Given the description of an element on the screen output the (x, y) to click on. 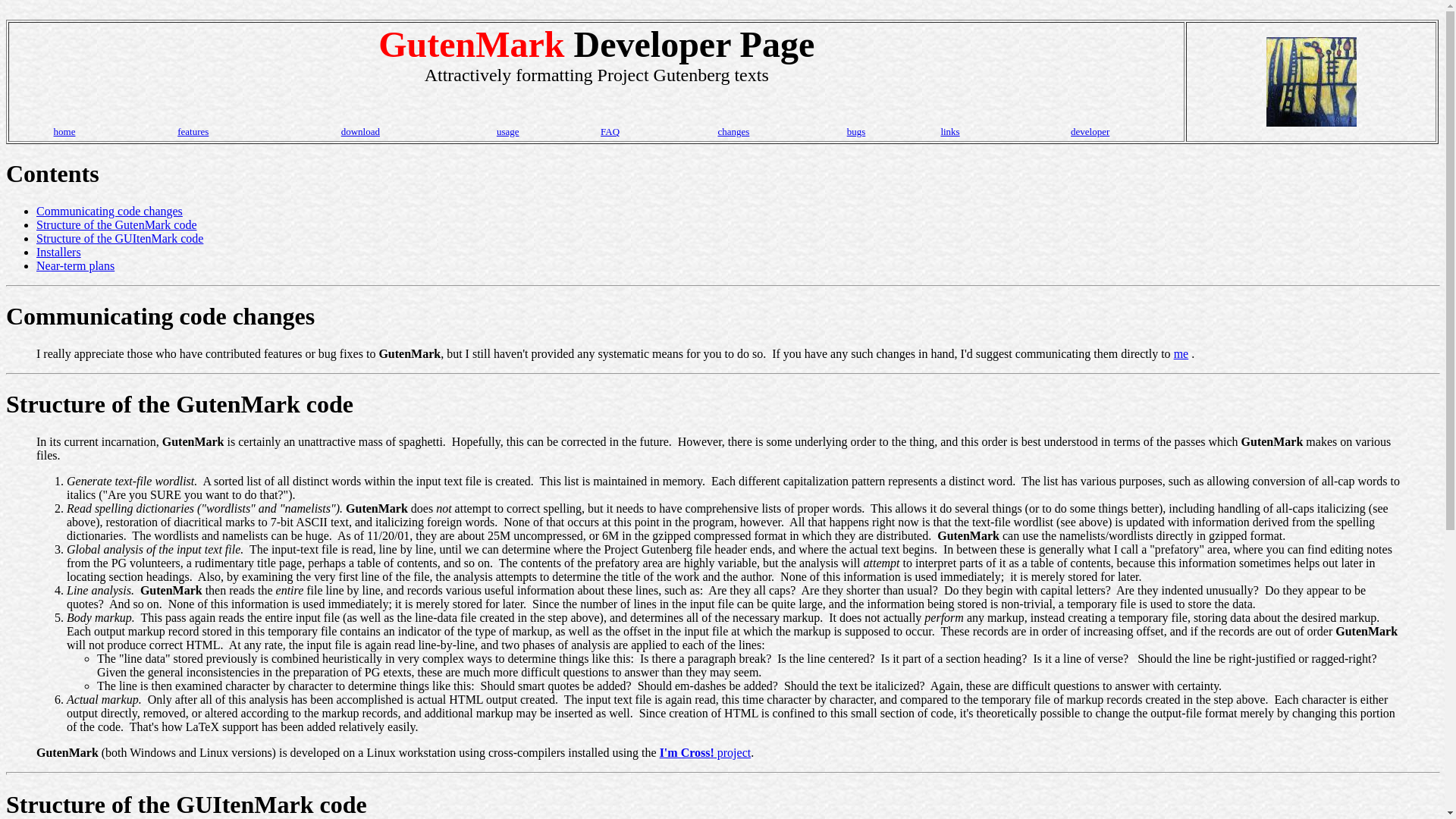
Near-term plans (75, 265)
features (192, 131)
developer (1089, 131)
I'm Cross! project (705, 752)
Communicating code changes (109, 210)
bugs (856, 131)
download (360, 131)
changes (733, 131)
home (64, 131)
me (1181, 353)
